Given the description of an element on the screen output the (x, y) to click on. 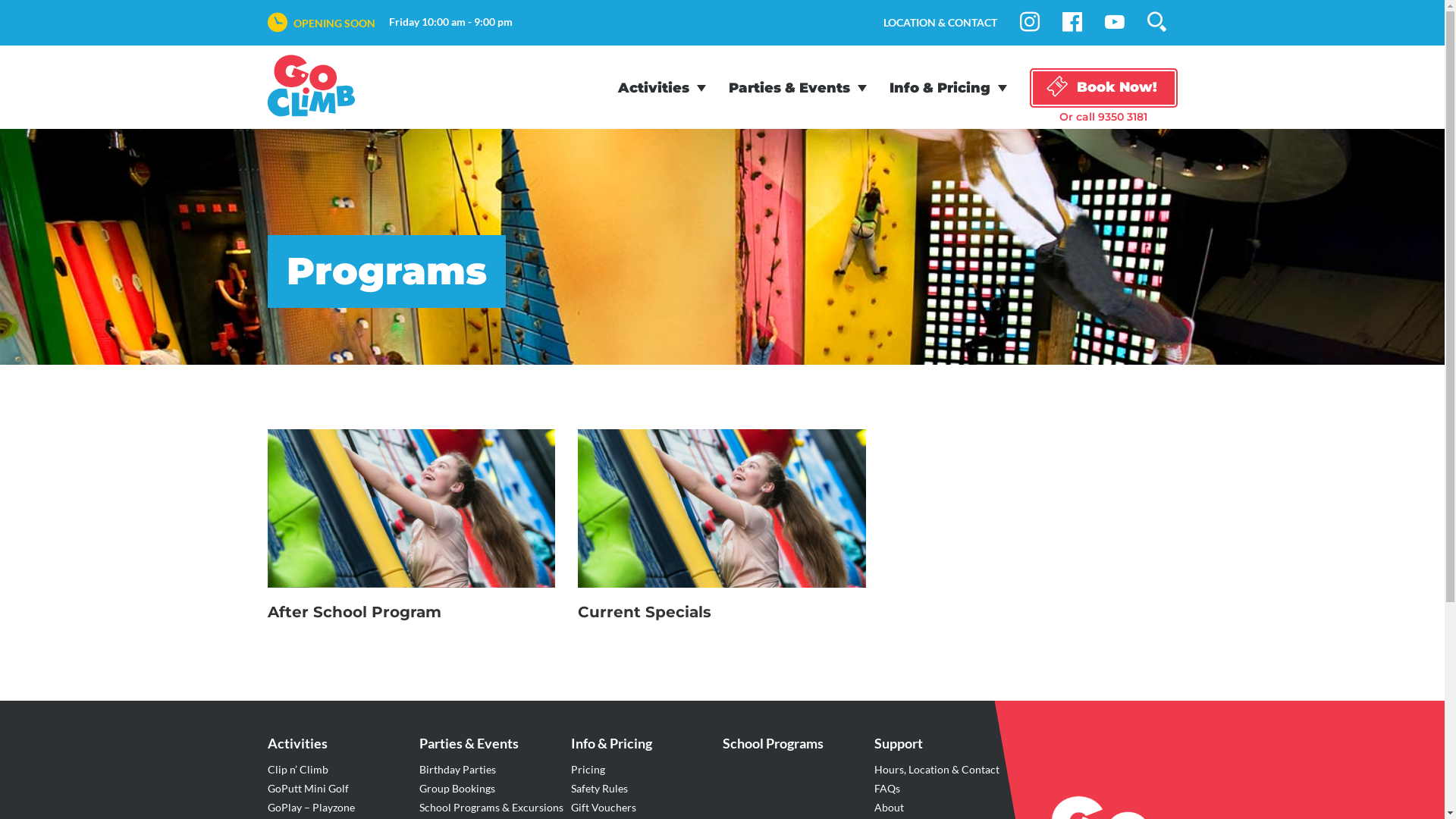
Info & Pricing Element type: text (947, 88)
Parties & Events Element type: text (467, 742)
School Programs Element type: text (771, 742)
Info & Pricing Element type: text (610, 742)
Activities Element type: text (661, 88)
Gift Vouchers Element type: text (602, 806)
Birthday Parties Element type: text (456, 768)
About Element type: text (888, 806)
Parties & Events Element type: text (797, 88)
Or call 9350 3181 Element type: text (1103, 116)
Hours, Location & Contact Element type: text (935, 768)
After School Program Element type: text (411, 532)
Pricing Element type: text (587, 768)
Support Element type: text (897, 742)
Group Bookings Element type: text (456, 787)
Current Specials Element type: text (721, 532)
Book Now! Element type: text (1103, 87)
Activities Element type: text (296, 742)
GoPutt Mini Golf Element type: text (307, 787)
Safety Rules Element type: text (598, 787)
LOCATION & CONTACT Element type: text (940, 22)
School Programs & Excursions Element type: text (490, 806)
FAQs Element type: text (886, 787)
